Given the description of an element on the screen output the (x, y) to click on. 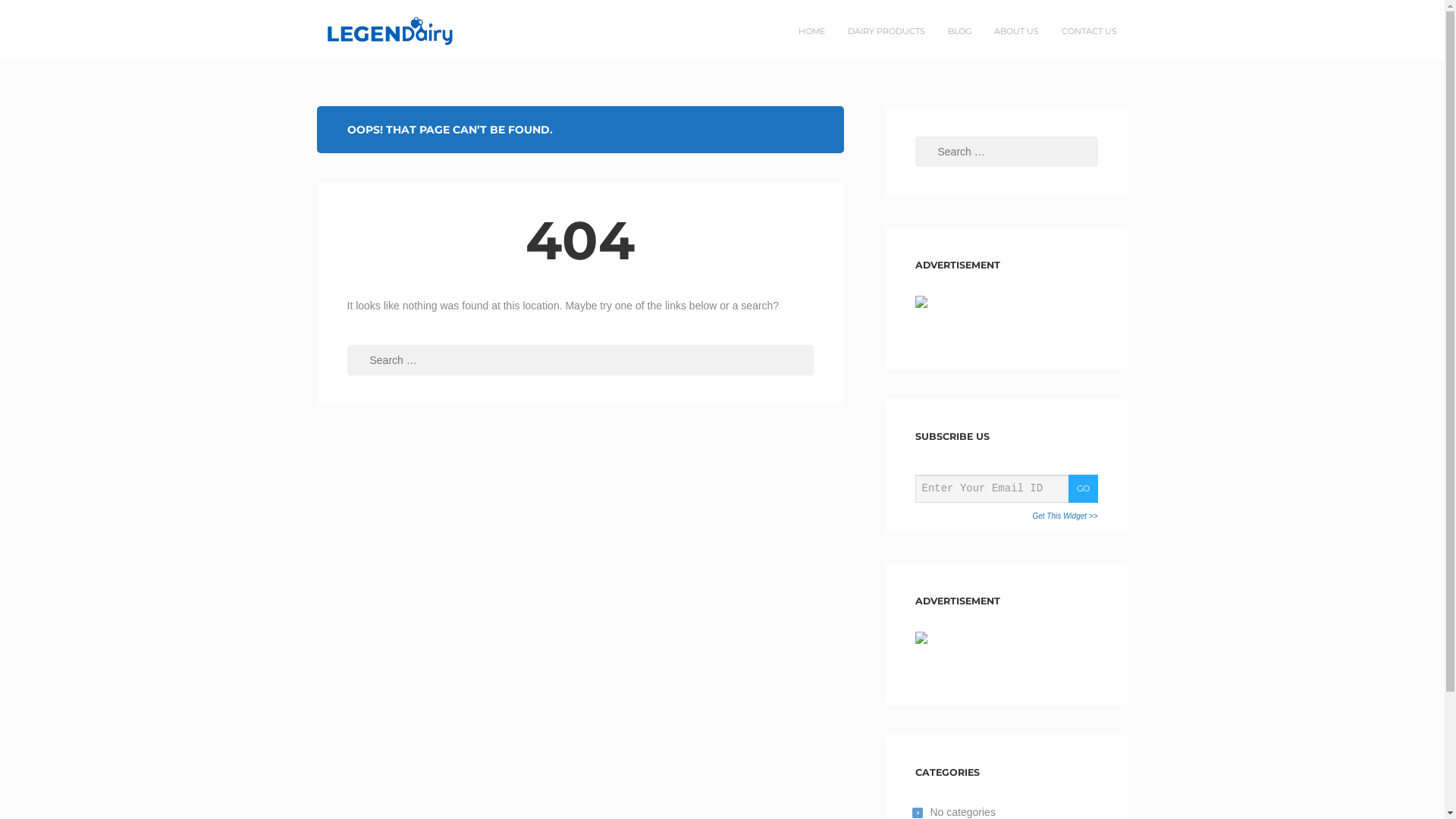
DAIRY PRODUCTS Element type: text (885, 30)
HOME Element type: text (811, 30)
CONTACT US Element type: text (1088, 30)
GO Element type: text (1082, 488)
LEGEN DAIRY Element type: text (365, 29)
Get This Widget >> Element type: text (1064, 516)
Search Element type: text (40, 14)
ABOUT US Element type: text (1016, 30)
BLOG Element type: text (958, 30)
